Given the description of an element on the screen output the (x, y) to click on. 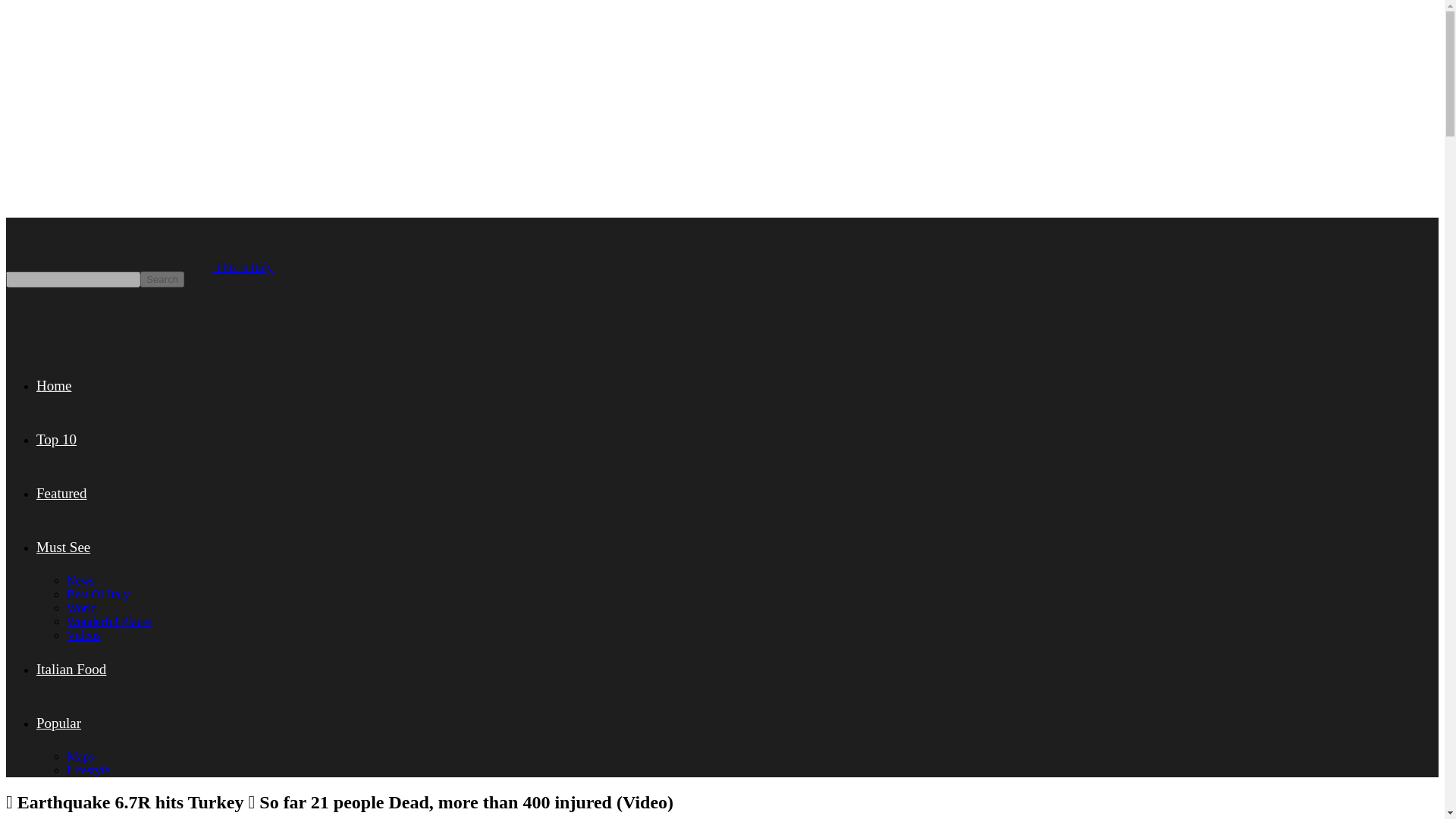
Italian Food (71, 668)
Lifestyle (88, 769)
Best Of Italy (97, 594)
Search (161, 279)
Popular (58, 722)
News (80, 580)
Home (53, 385)
Top 10 (56, 439)
Magical Earth (108, 244)
Search (161, 279)
Magical Earth (108, 321)
World (81, 607)
Must See (63, 546)
Featured (60, 493)
Maps (80, 756)
